Given the description of an element on the screen output the (x, y) to click on. 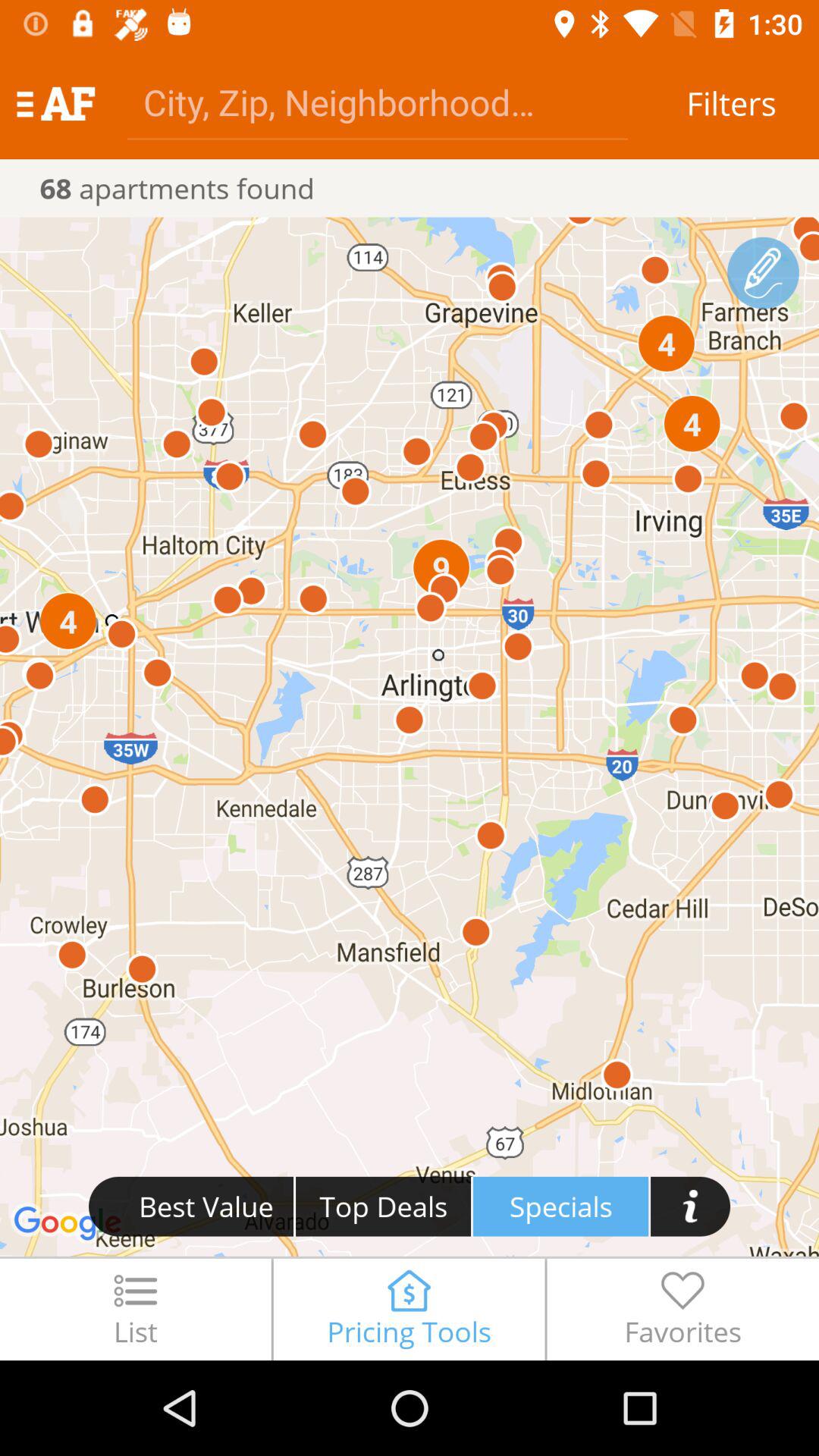
search the new deals (690, 1205)
